Given the description of an element on the screen output the (x, y) to click on. 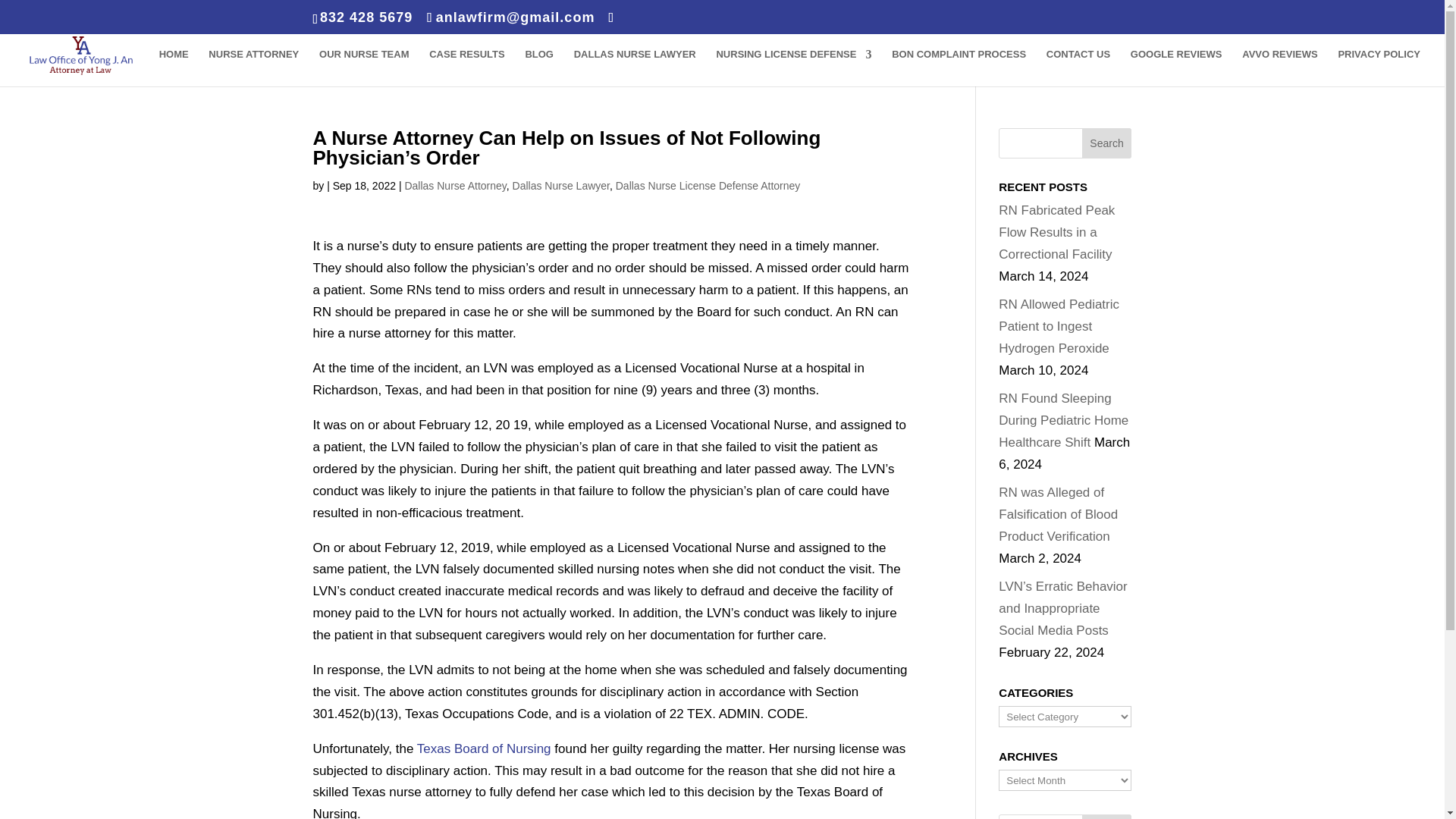
NURSE ATTORNEY (253, 67)
Search (1106, 142)
DALLAS NURSE LAWYER (634, 67)
CASE RESULTS (466, 67)
Search (1106, 816)
OUR NURSE TEAM (363, 67)
NURSING LICENSE DEFENSE (793, 67)
